Given the description of an element on the screen output the (x, y) to click on. 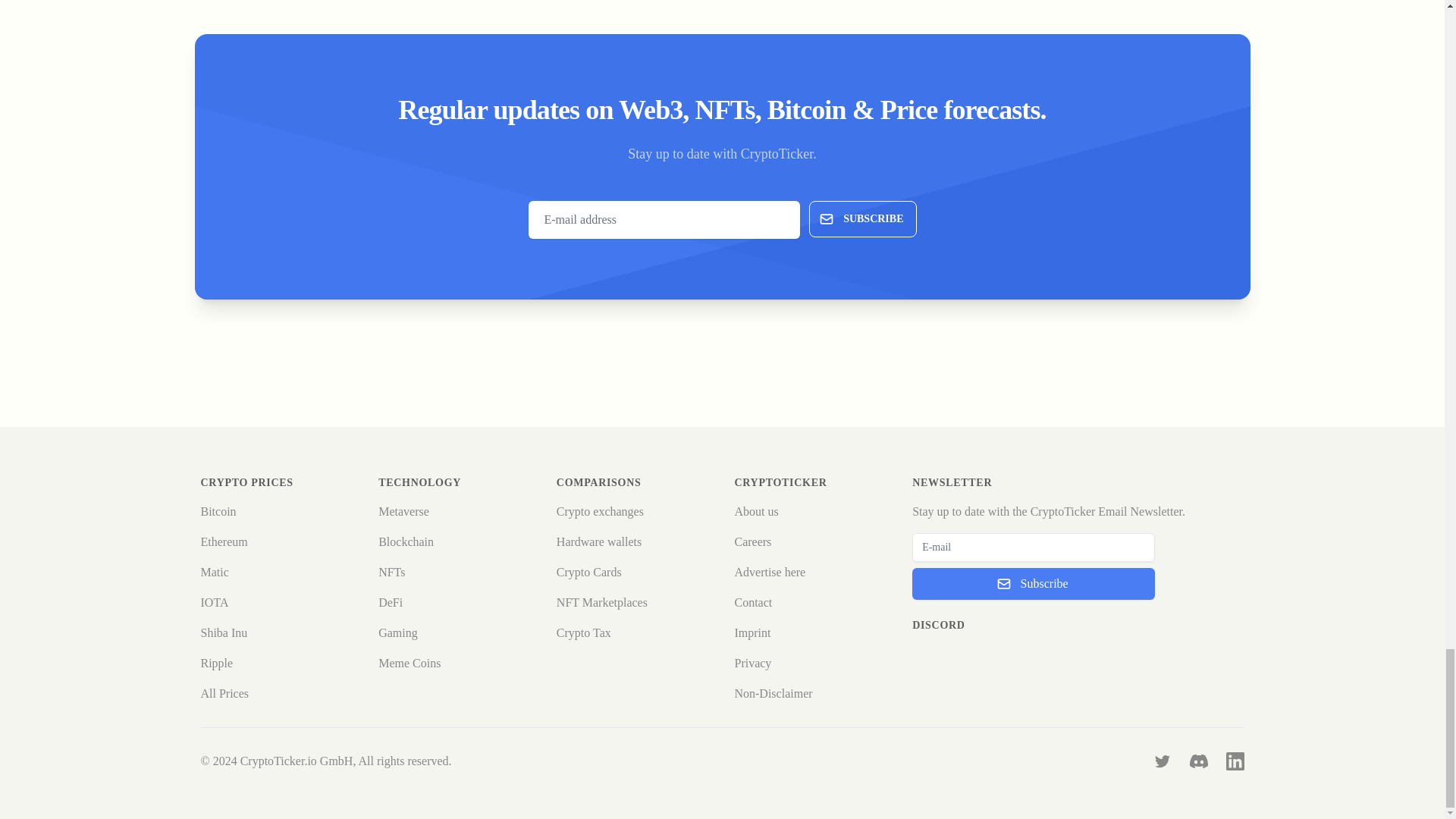
Blockchain (405, 541)
Metaverse (403, 511)
Shiba Inu (223, 632)
IOTA (214, 602)
Ripple (216, 662)
Matic (214, 571)
SUBSCRIBE (862, 218)
Bitcoin (217, 511)
Ethereum (223, 541)
All Prices (224, 693)
